Given the description of an element on the screen output the (x, y) to click on. 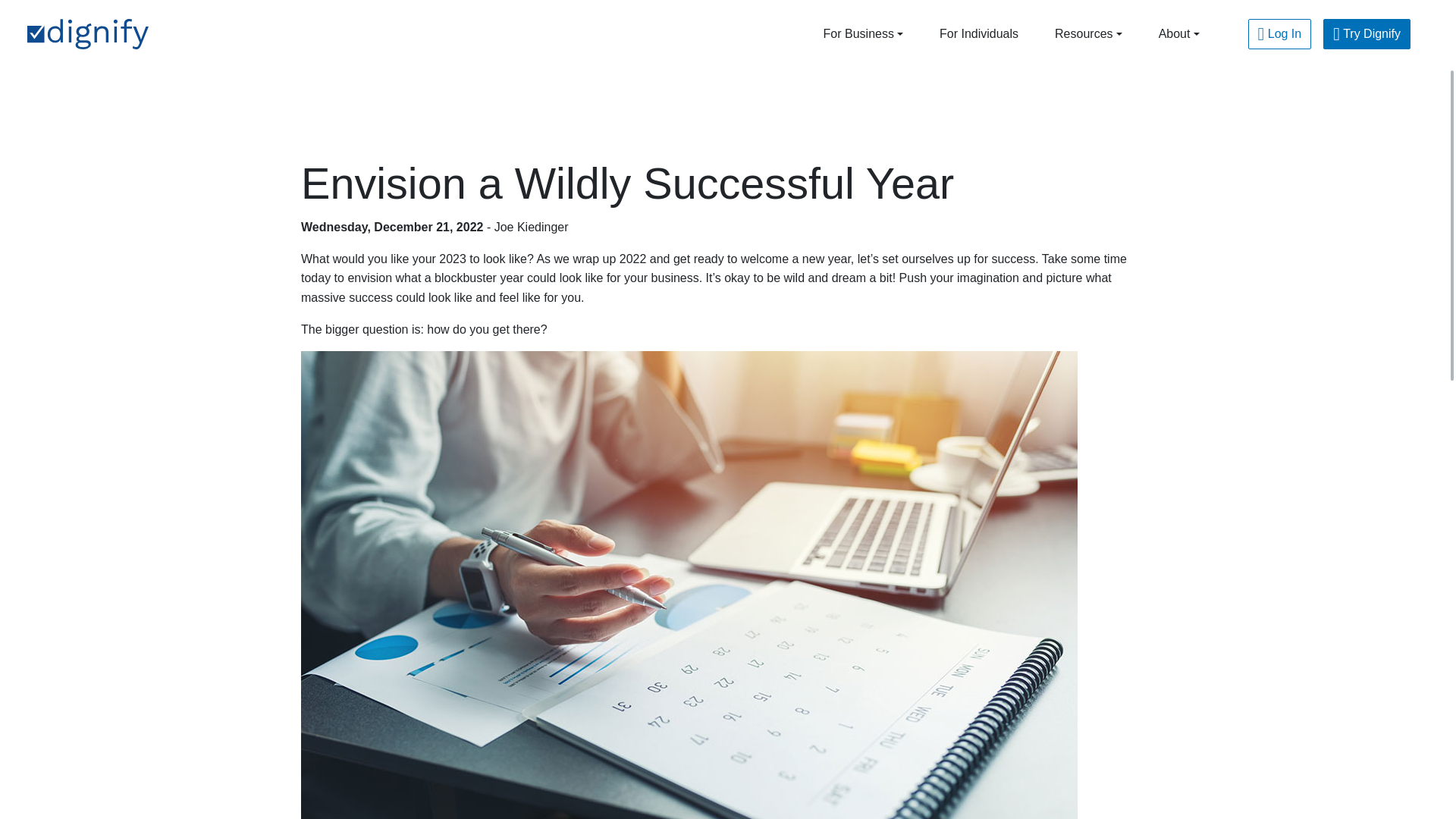
For Individuals (978, 33)
Log In (1279, 33)
About (1178, 33)
For Business (863, 33)
Try Dignify (1366, 33)
Resources (1088, 33)
